Given the description of an element on the screen output the (x, y) to click on. 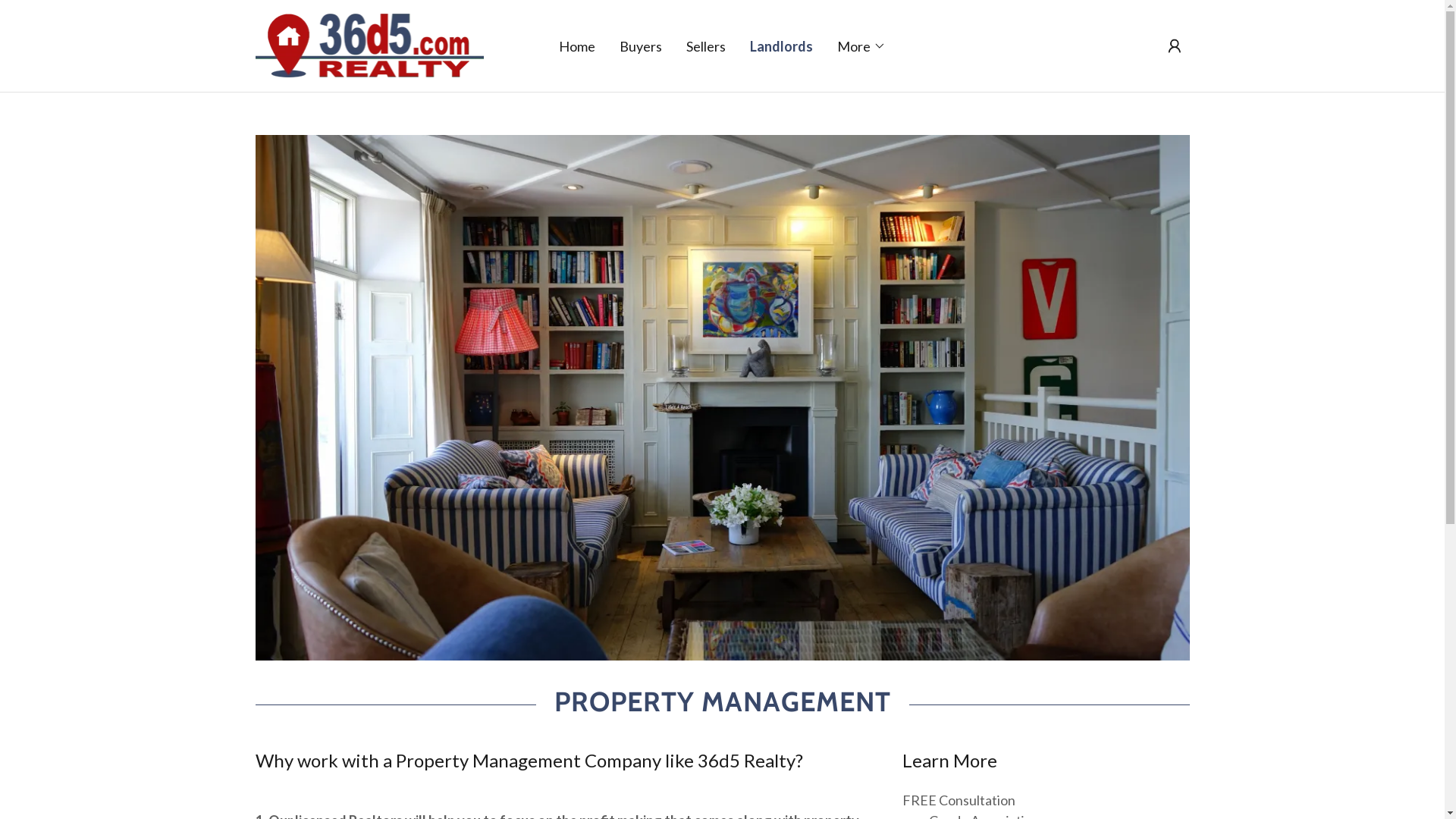
Home Element type: text (576, 45)
36d5 Realty Element type: hover (368, 43)
Sellers Element type: text (705, 45)
More Element type: text (861, 45)
Landlords Element type: text (780, 45)
Buyers Element type: text (640, 45)
